Given the description of an element on the screen output the (x, y) to click on. 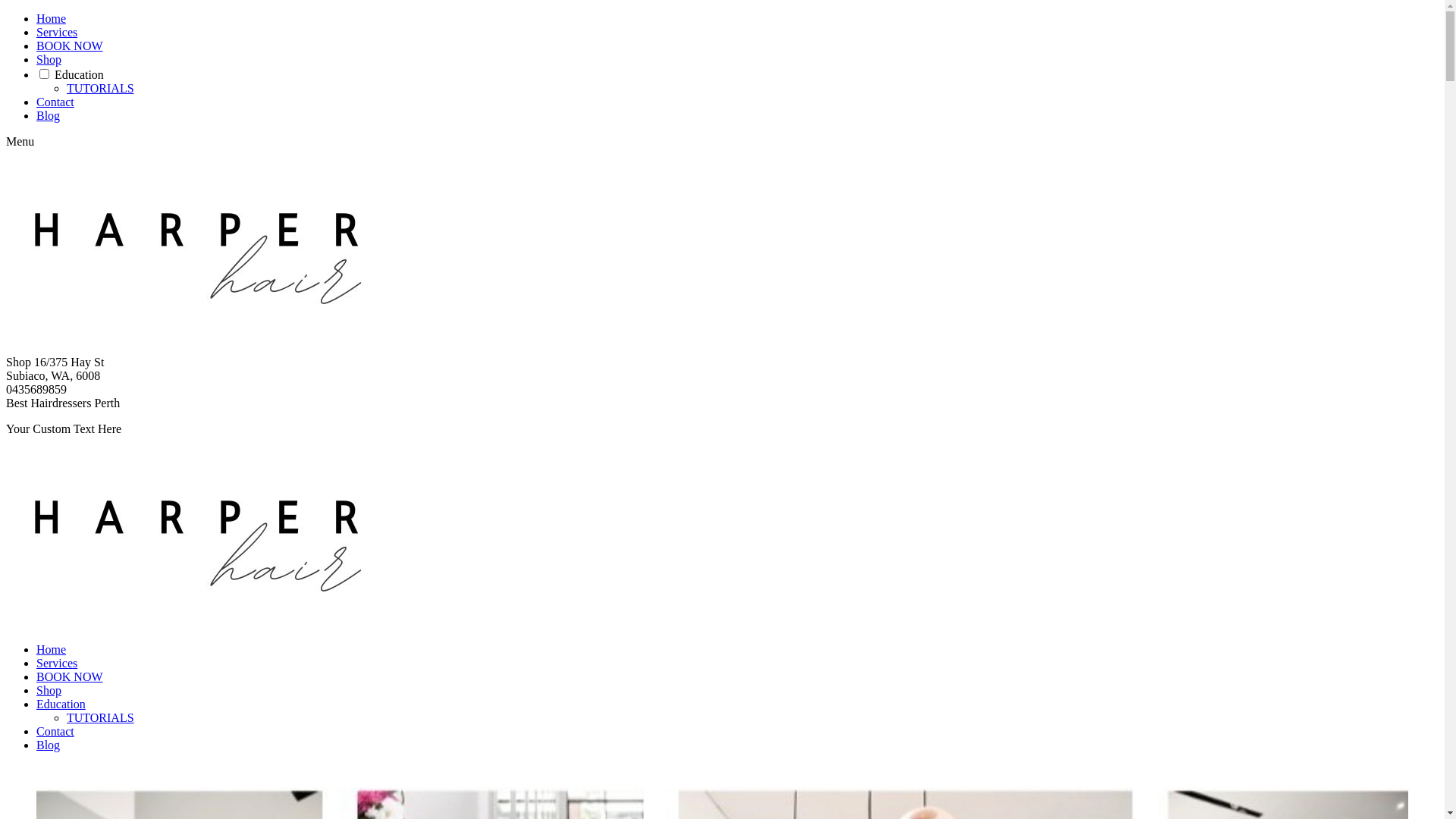
Contact Element type: text (55, 101)
Blog Element type: text (47, 744)
Blog Element type: text (47, 115)
Education Element type: text (78, 74)
Home Element type: text (50, 18)
Shop Element type: text (48, 59)
BOOK NOW Element type: text (69, 45)
Home Element type: text (50, 649)
BOOK NOW Element type: text (69, 676)
Shop Element type: text (48, 690)
TUTORIALS Element type: text (100, 717)
Services Element type: text (56, 662)
TUTORIALS Element type: text (100, 87)
Contact Element type: text (55, 730)
Menu Element type: text (20, 140)
Education Element type: text (60, 703)
Services Element type: text (56, 31)
